Given the description of an element on the screen output the (x, y) to click on. 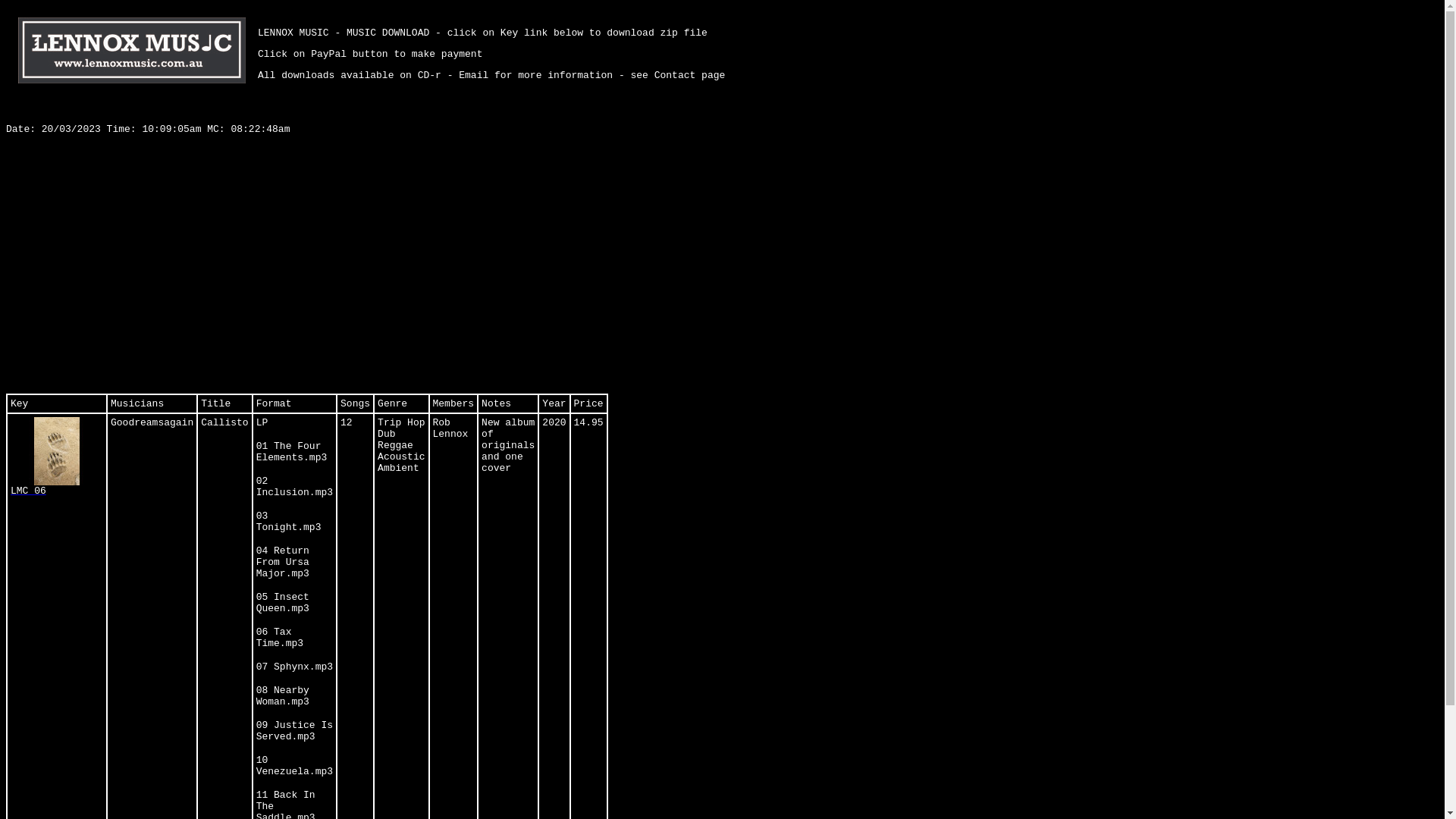
LENNOX MUSIC Element type: hover (131, 50)
LMC 06 Element type: hover (56, 451)
LMC 06 Element type: text (56, 456)
